Given the description of an element on the screen output the (x, y) to click on. 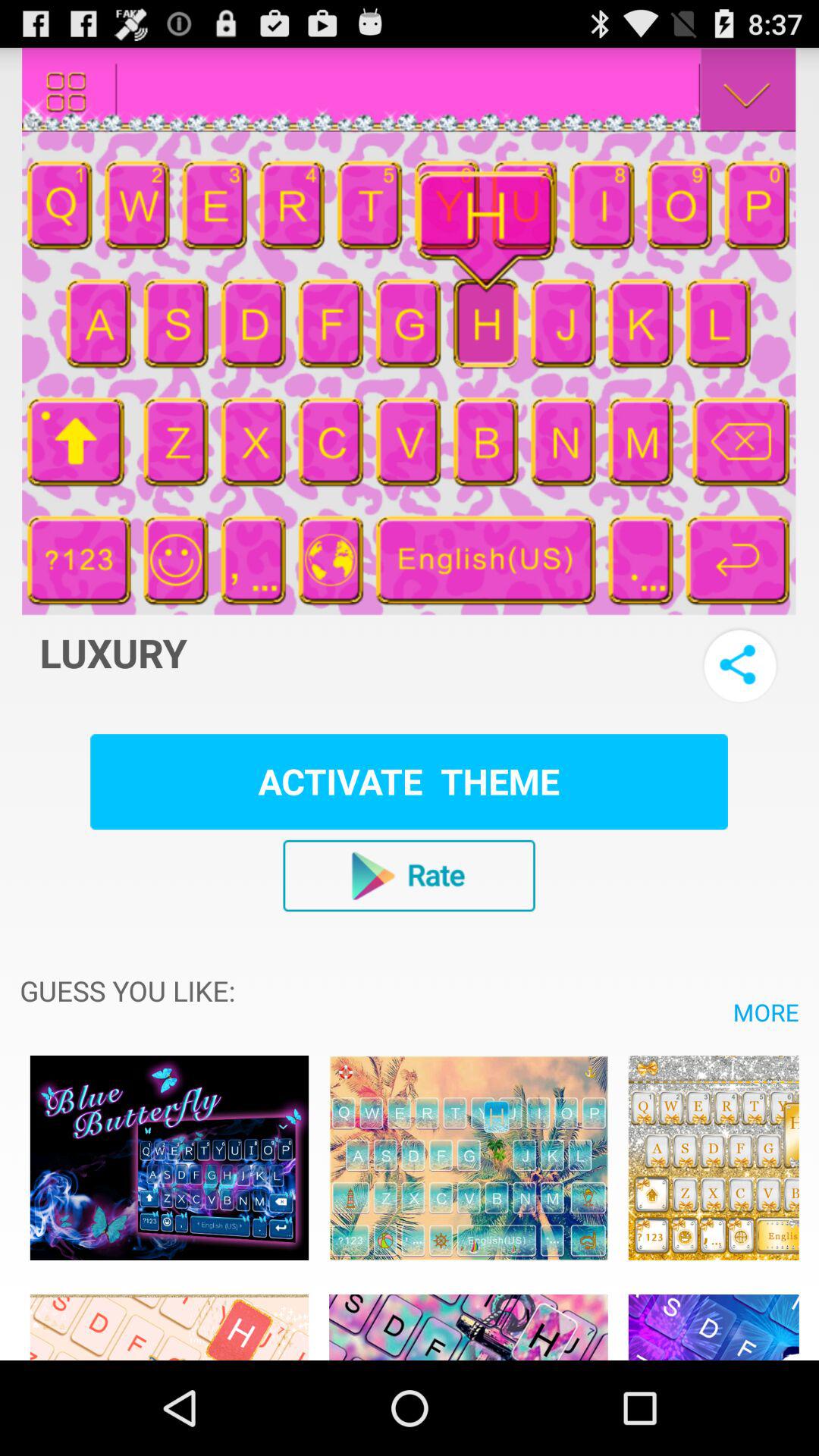
select the keybroad image (713, 1318)
